Given the description of an element on the screen output the (x, y) to click on. 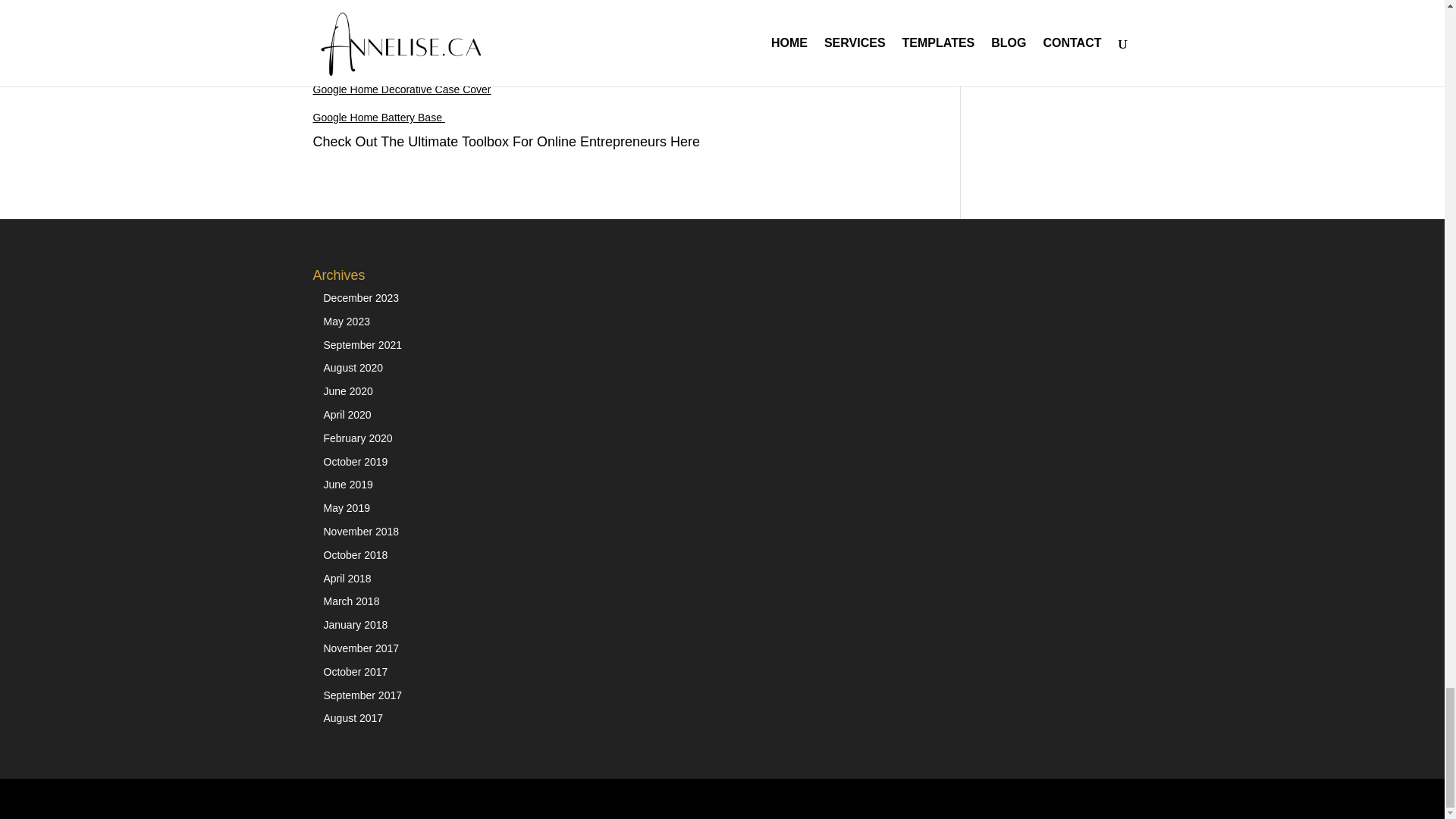
December 2023 (360, 297)
Google Home Decorative Case Cover (401, 89)
Google Home Wall Mount  (374, 60)
May 2023 (346, 321)
September 2021 (362, 345)
Google Home Battery Base  (378, 117)
August 2020 (352, 367)
Buy The Google Home Here  (404, 17)
